Given the description of an element on the screen output the (x, y) to click on. 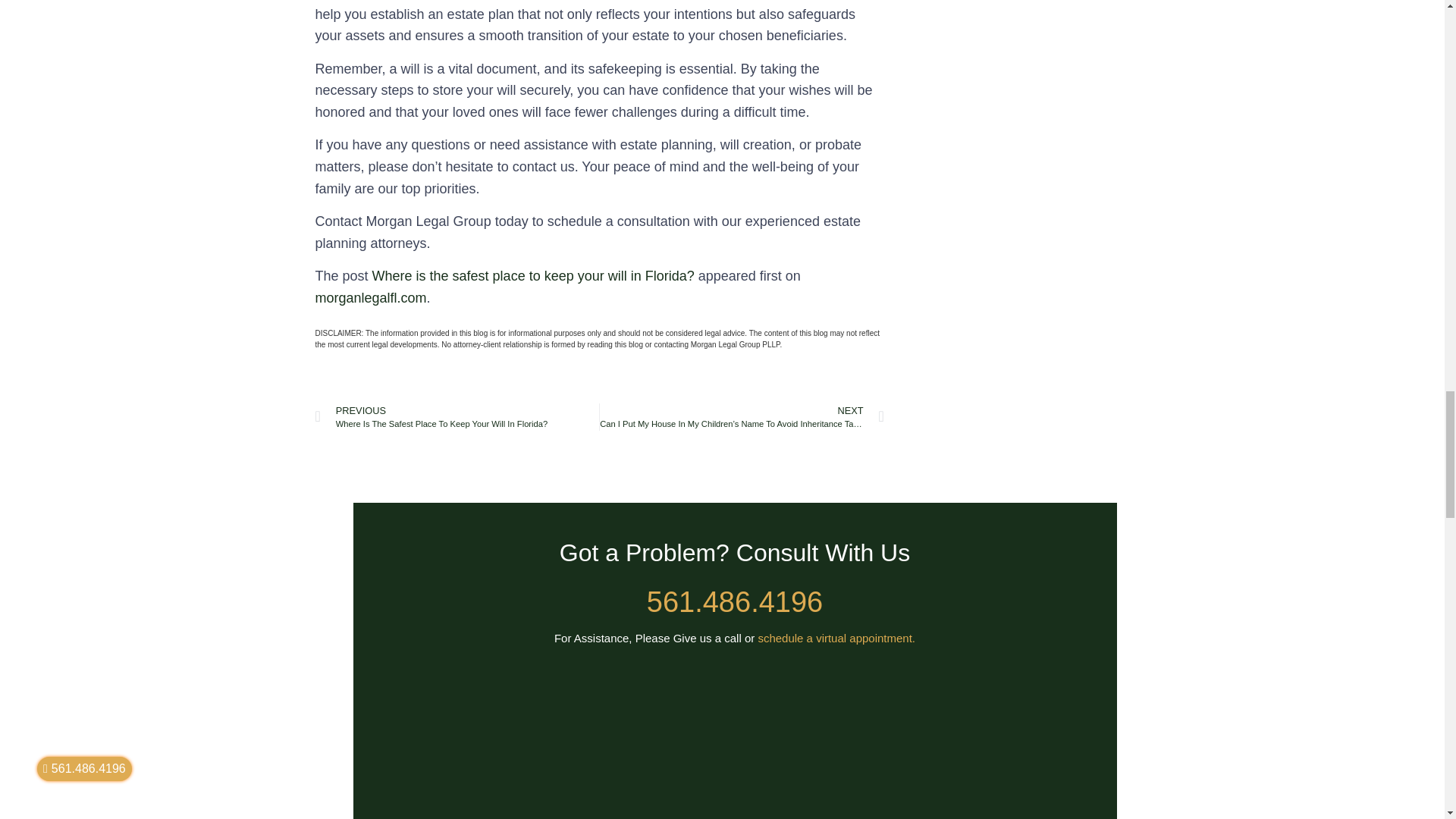
Where is the safest place to keep your will in Florida? (533, 275)
morganlegalfl.com (370, 297)
